Given the description of an element on the screen output the (x, y) to click on. 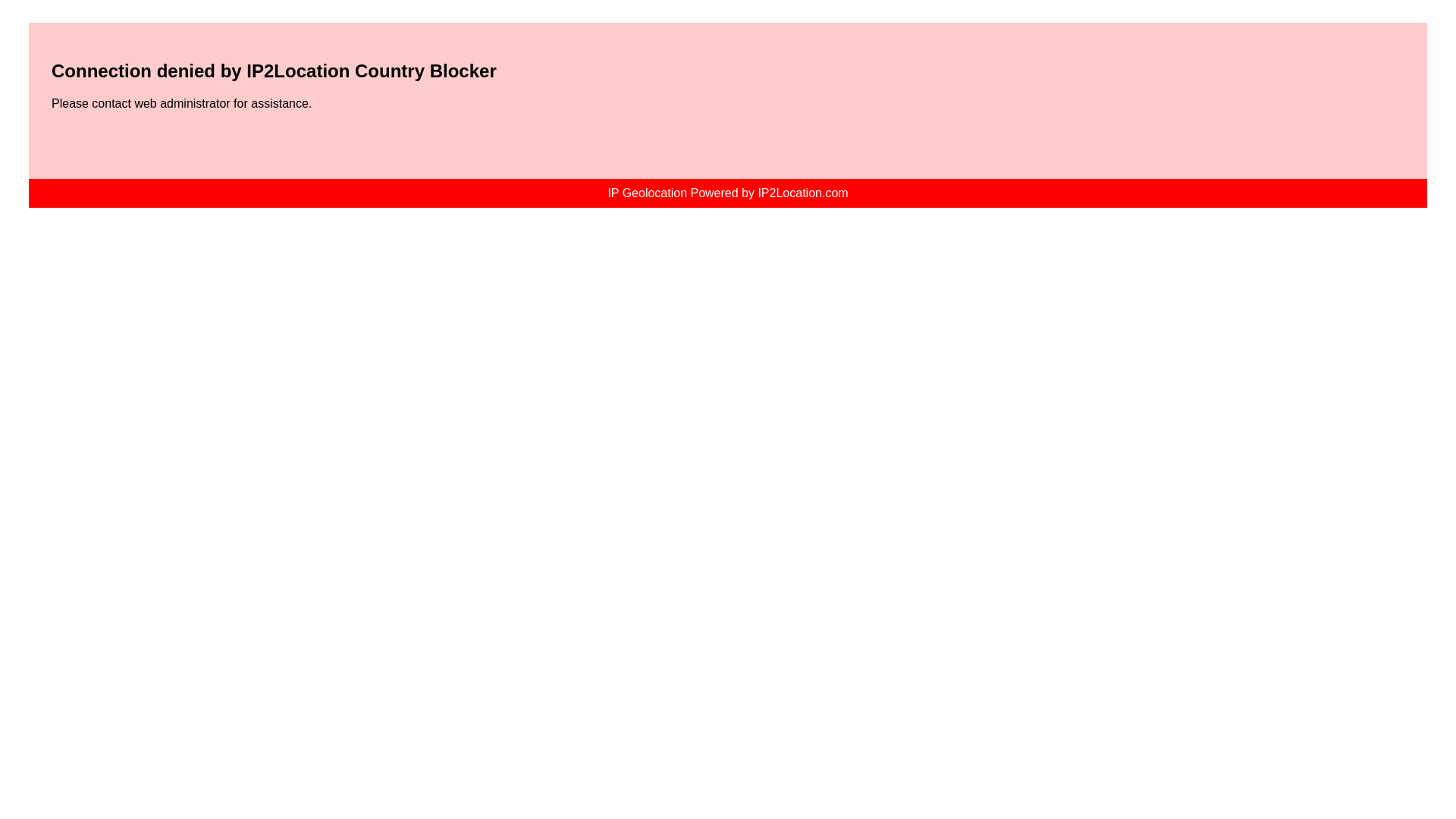
IP Geolocation Powered by IP2Location.com (727, 192)
